Given the description of an element on the screen output the (x, y) to click on. 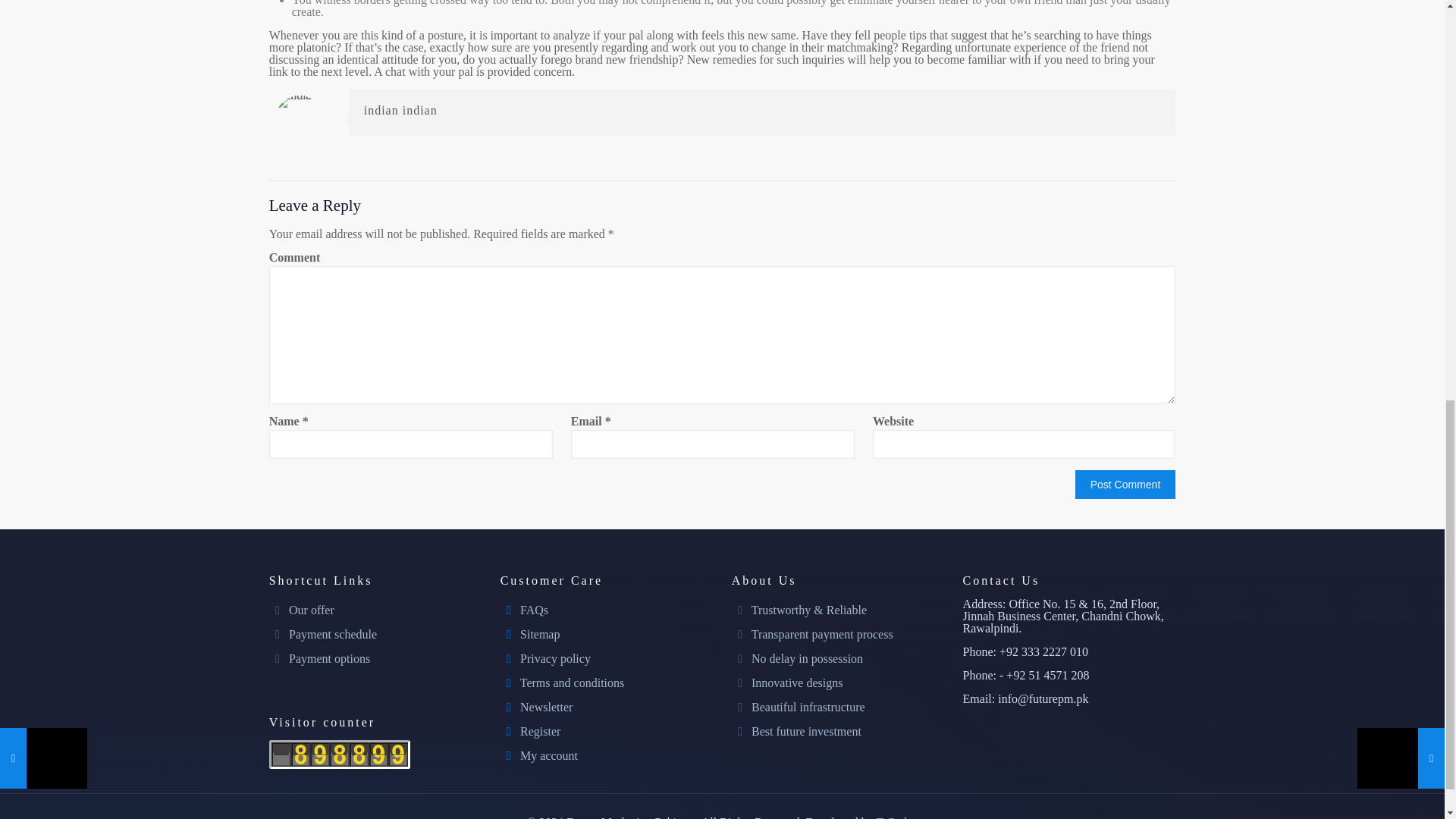
Innovative designs (797, 682)
Privacy policy (555, 658)
Terms and conditions (571, 682)
Beautiful infrastructure (807, 707)
Newsletter (545, 707)
Post Comment (1125, 484)
indian indian (401, 110)
My account (548, 755)
Best future investment (806, 730)
Our offer (311, 609)
T-Codez (897, 817)
Payment options (328, 658)
Transparent payment process (822, 634)
No delay in possession (807, 658)
Sitemap (539, 634)
